Given the description of an element on the screen output the (x, y) to click on. 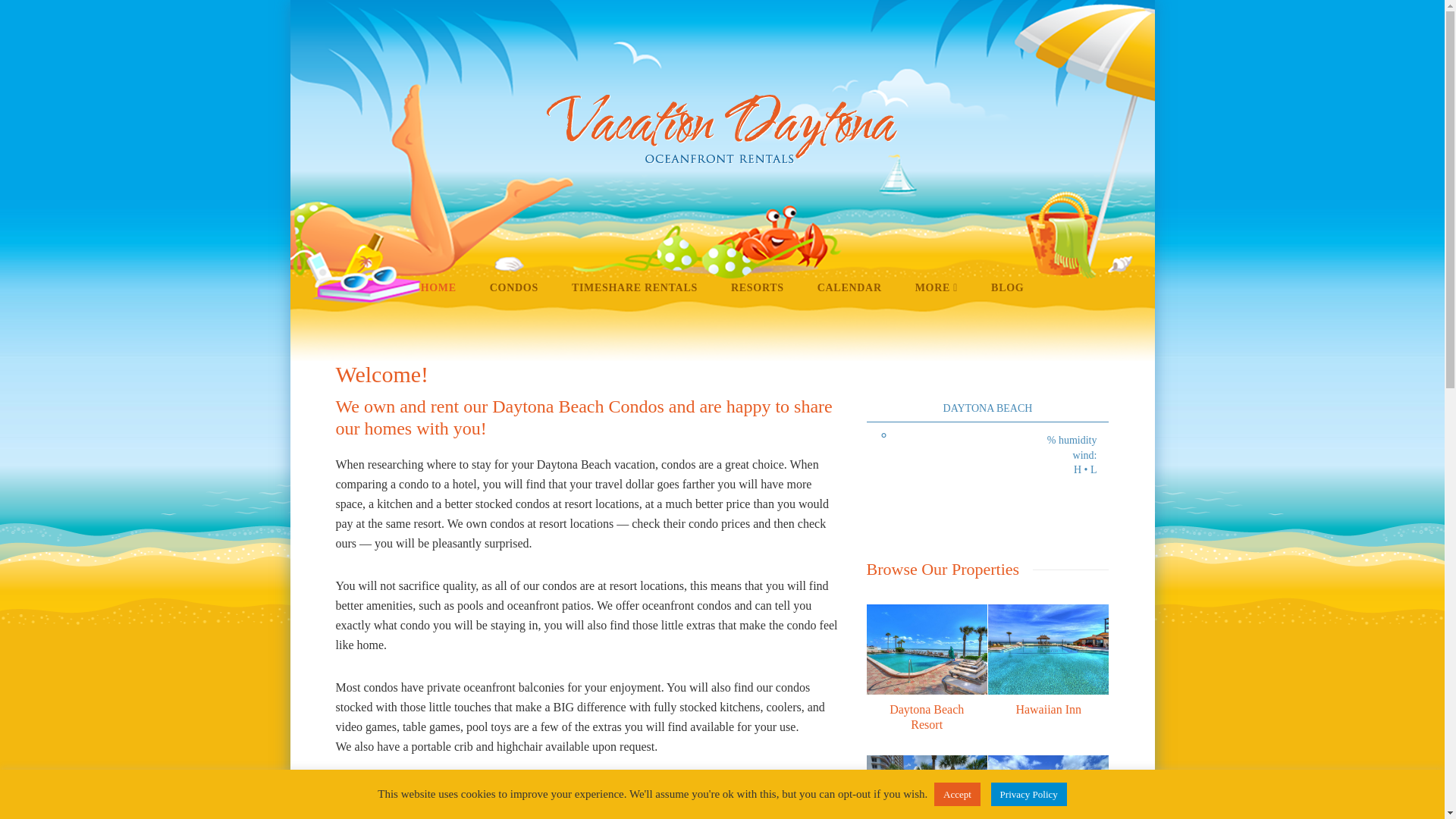
CALENDAR (849, 287)
RESORTS (757, 287)
CONDOS (513, 287)
Hawaiian Inn (1048, 649)
Hawaiian Inn (1047, 708)
MORE (935, 287)
Hawaiian Inn (1047, 708)
Pirates Cove Resort (1048, 787)
Daytona Beach Resort (926, 716)
HOME (438, 287)
Daytona Beach Resort (926, 649)
TIMESHARE RENTALS (634, 287)
BLOG (1007, 287)
Daytona Beach Resort (926, 716)
